Given the description of an element on the screen output the (x, y) to click on. 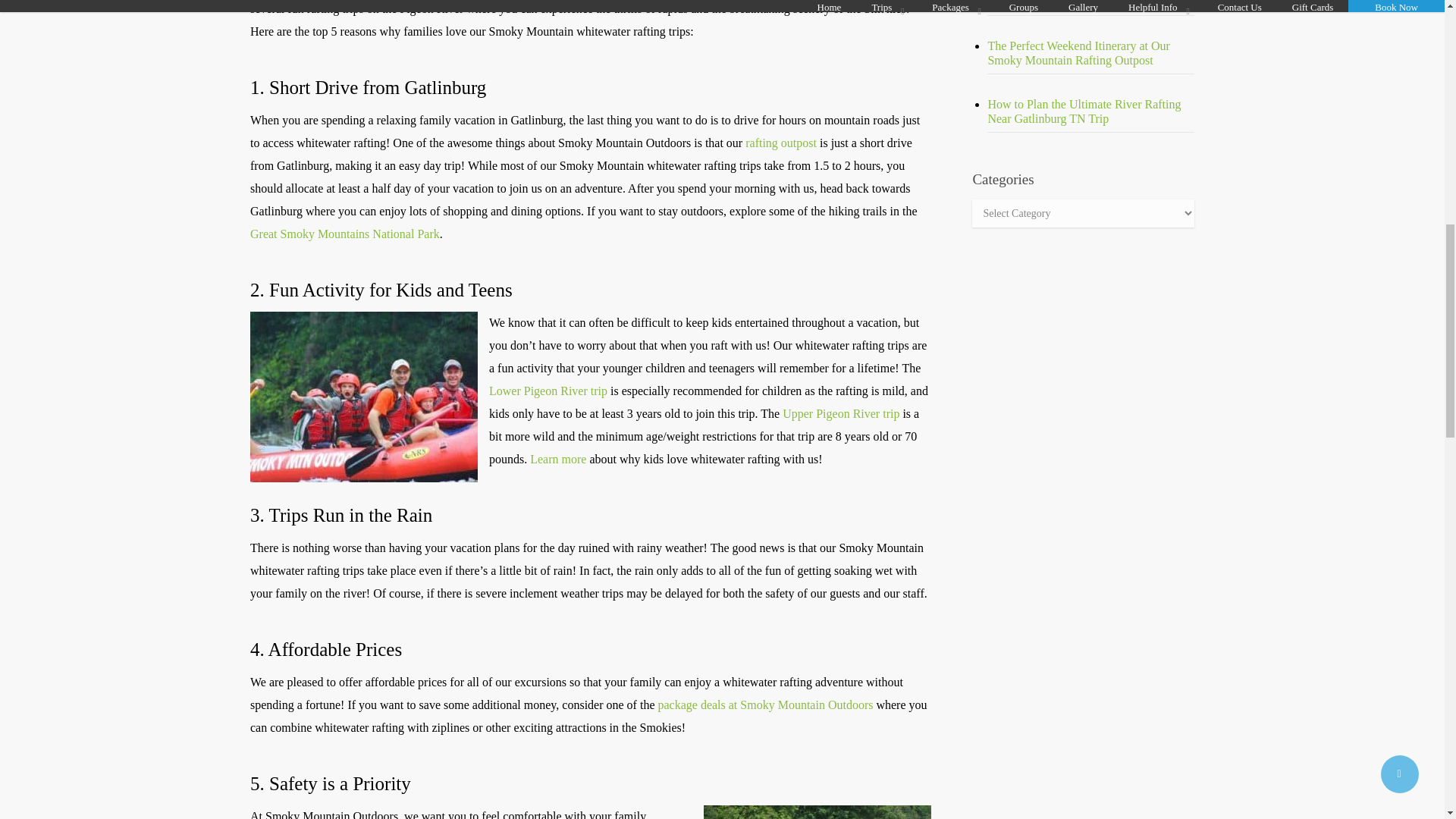
Learn more (557, 459)
package deals at Smoky Mountain Outdoors (765, 704)
Great Smoky Mountains National Park (344, 233)
rafting outpost (780, 142)
Upper Pigeon River trip (841, 413)
Lower Pigeon River trip (548, 390)
